Given the description of an element on the screen output the (x, y) to click on. 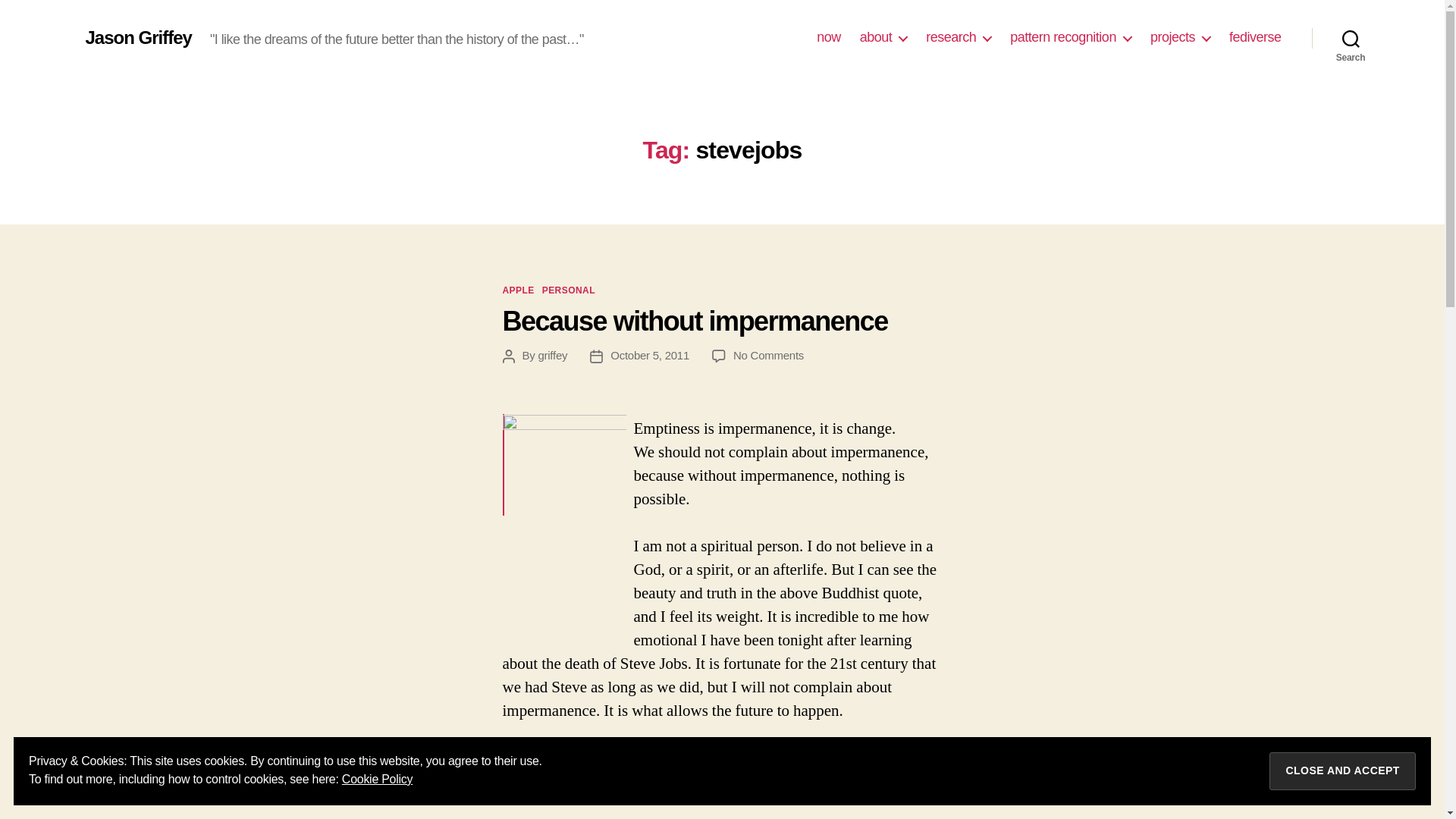
Close and accept (1342, 771)
projects (1179, 37)
pattern recognition (1070, 37)
now (828, 37)
Jason Griffey (137, 37)
Search (1350, 37)
about (883, 37)
fediverse (1254, 37)
research (958, 37)
